Given the description of an element on the screen output the (x, y) to click on. 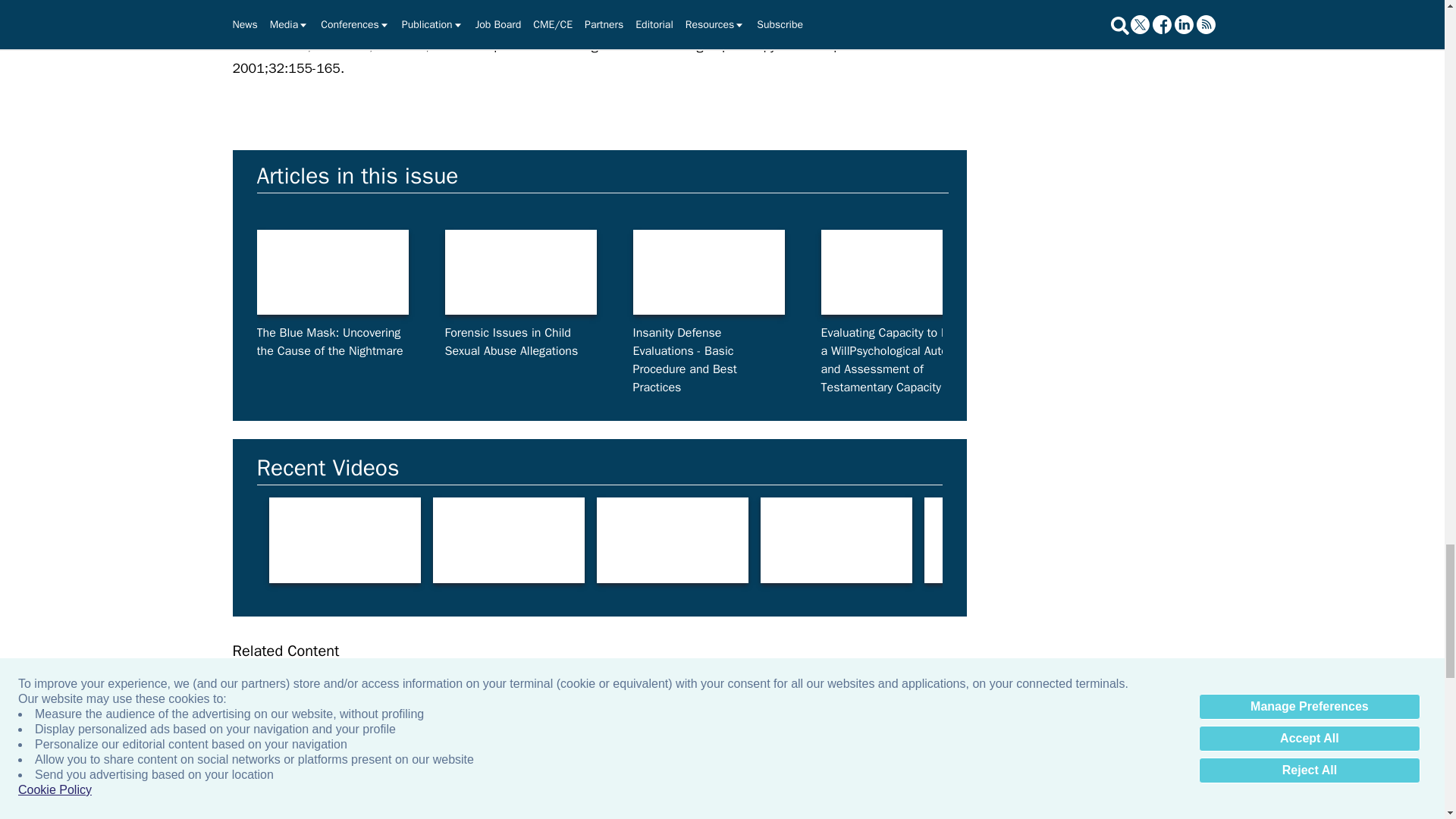
brain  (1163, 540)
brain depression (343, 540)
Volpicelli (304, 751)
brain (507, 540)
nicotine use (671, 540)
